Given the description of an element on the screen output the (x, y) to click on. 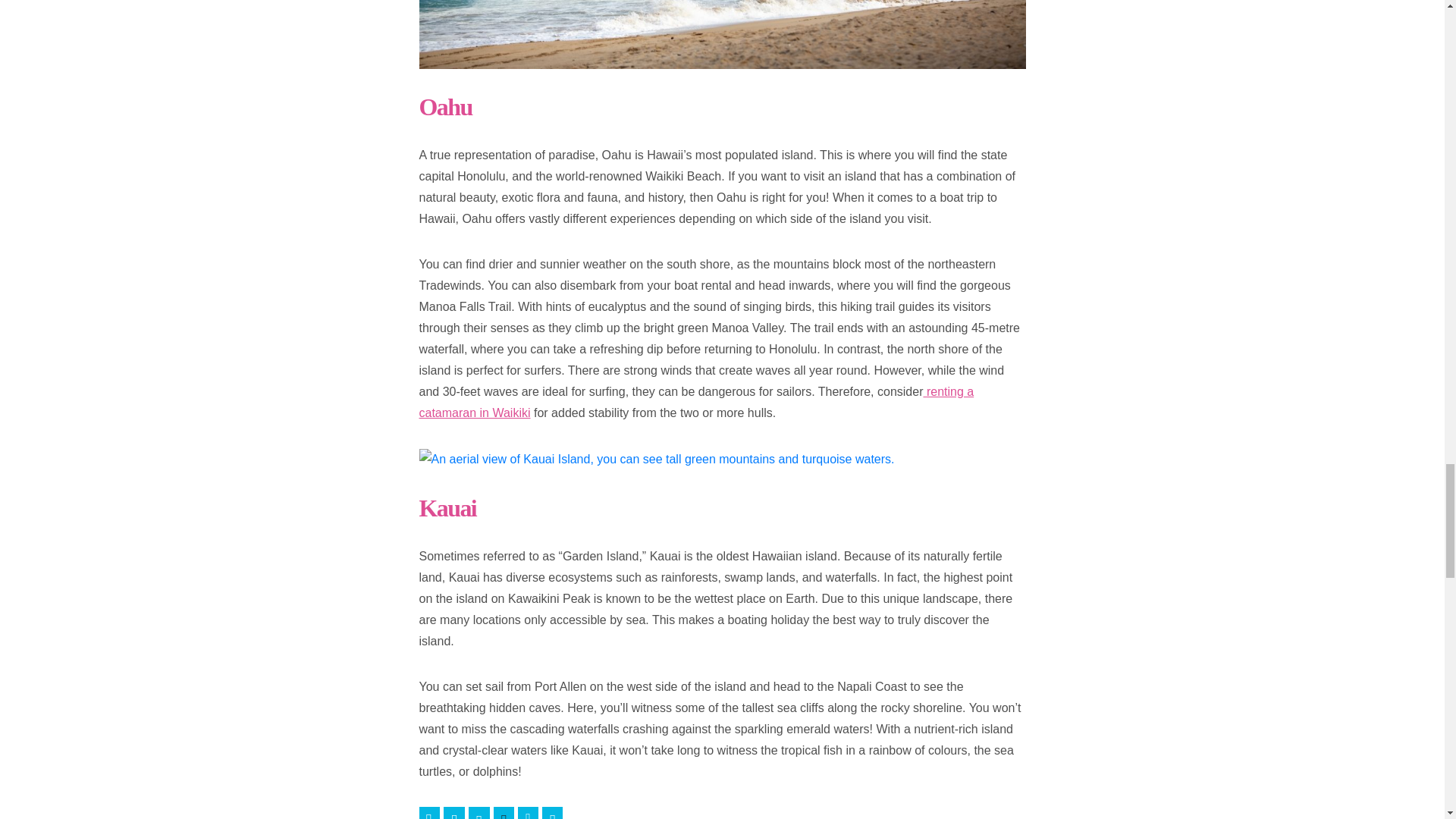
renting a catamaran in Waikiki (696, 401)
Share this article on Facebook (429, 812)
Share an image of this article on Pinterest (504, 812)
Share this article on Twitter (454, 812)
Share this article on LinkedIn (528, 812)
